Given the description of an element on the screen output the (x, y) to click on. 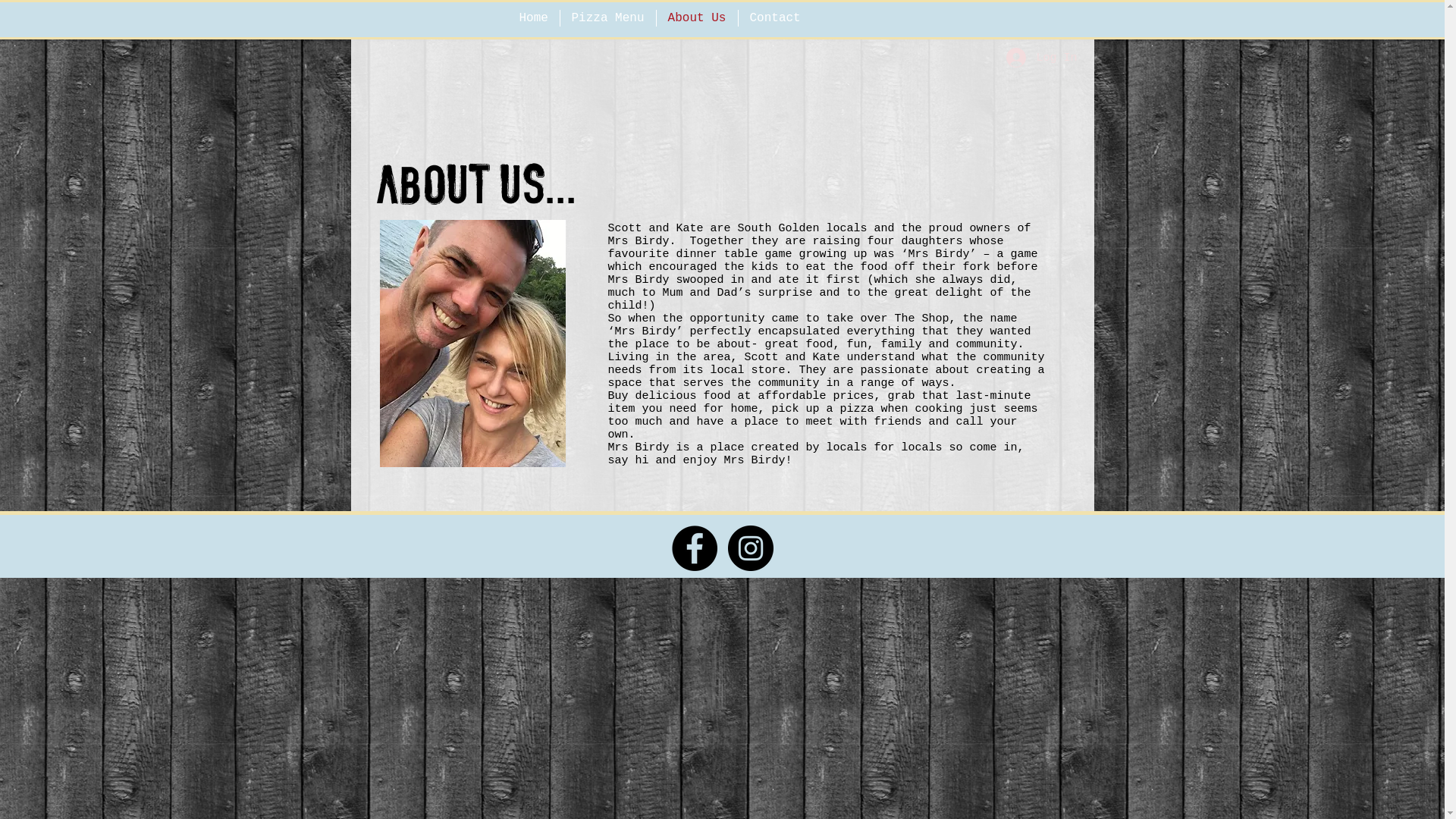
Log In Element type: text (1039, 57)
Home Element type: text (533, 17)
About Us Element type: text (696, 17)
Contact Element type: text (775, 17)
Pizza Menu Element type: text (607, 17)
